Given the description of an element on the screen output the (x, y) to click on. 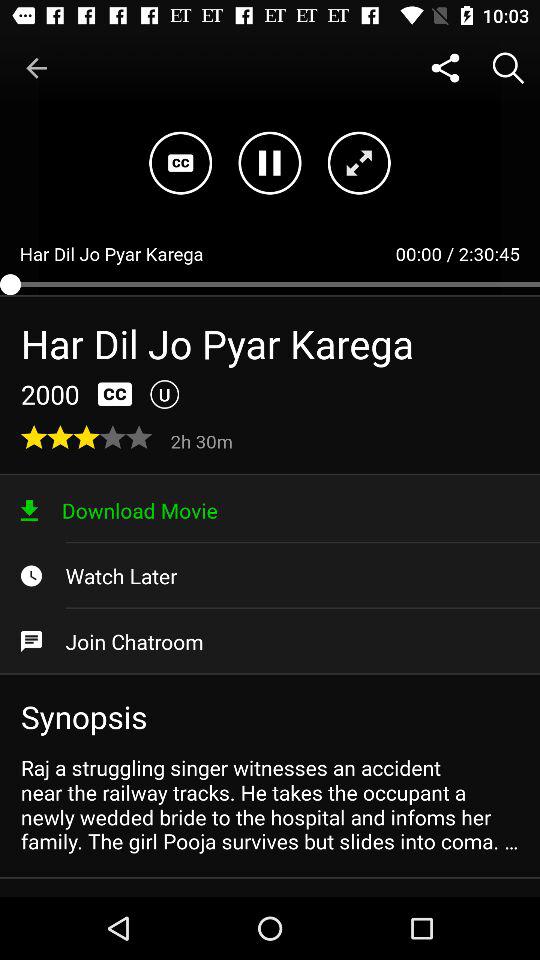
turn on item below the download movie (270, 575)
